Given the description of an element on the screen output the (x, y) to click on. 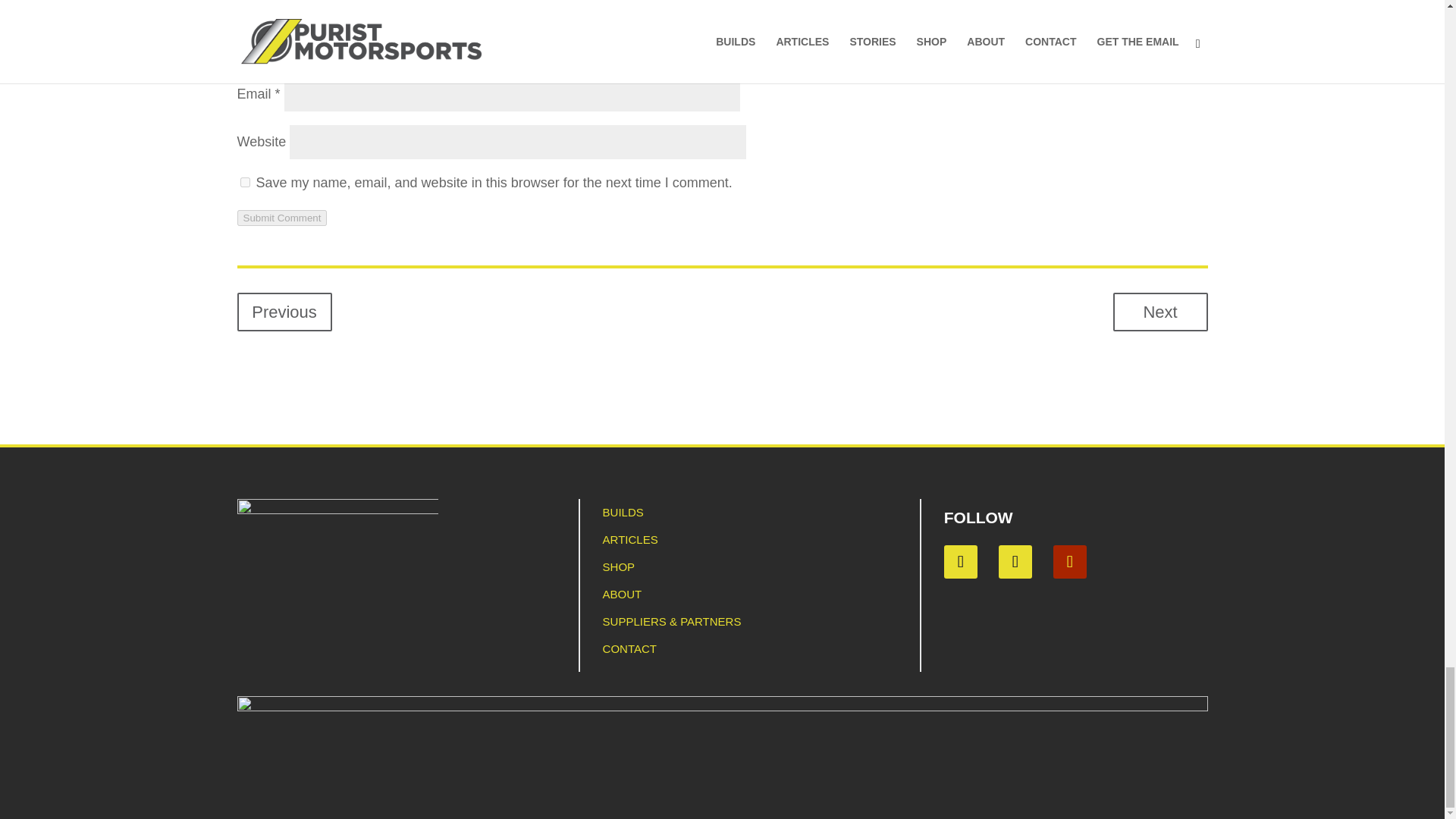
SHOP (618, 566)
Next (1160, 311)
BUILDS (622, 512)
Previous (283, 311)
ARTICLES (630, 539)
CONTACT (629, 648)
Submit Comment (280, 217)
Follow on Instagram (1015, 561)
Follow on Facebook (959, 561)
Follow on Youtube (1069, 561)
